Given the description of an element on the screen output the (x, y) to click on. 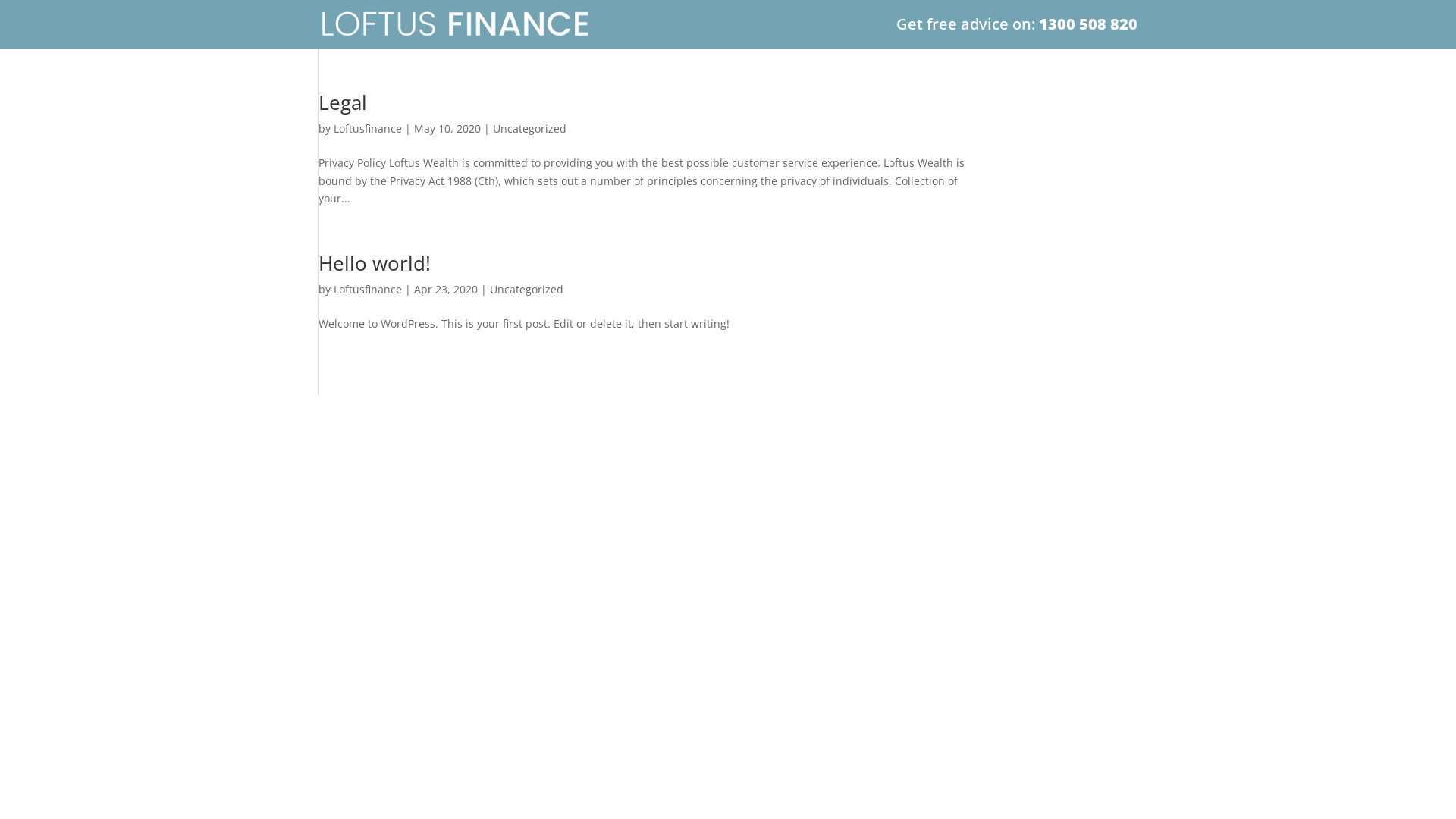
Uncategorized Element type: text (526, 289)
Legal Element type: text (342, 102)
Get free advice on: 1300 508 820 Element type: text (1016, 33)
Hello world! Element type: text (374, 262)
Uncategorized Element type: text (529, 128)
Loftusfinance Element type: text (367, 128)
Loftusfinance Element type: text (367, 289)
